Given the description of an element on the screen output the (x, y) to click on. 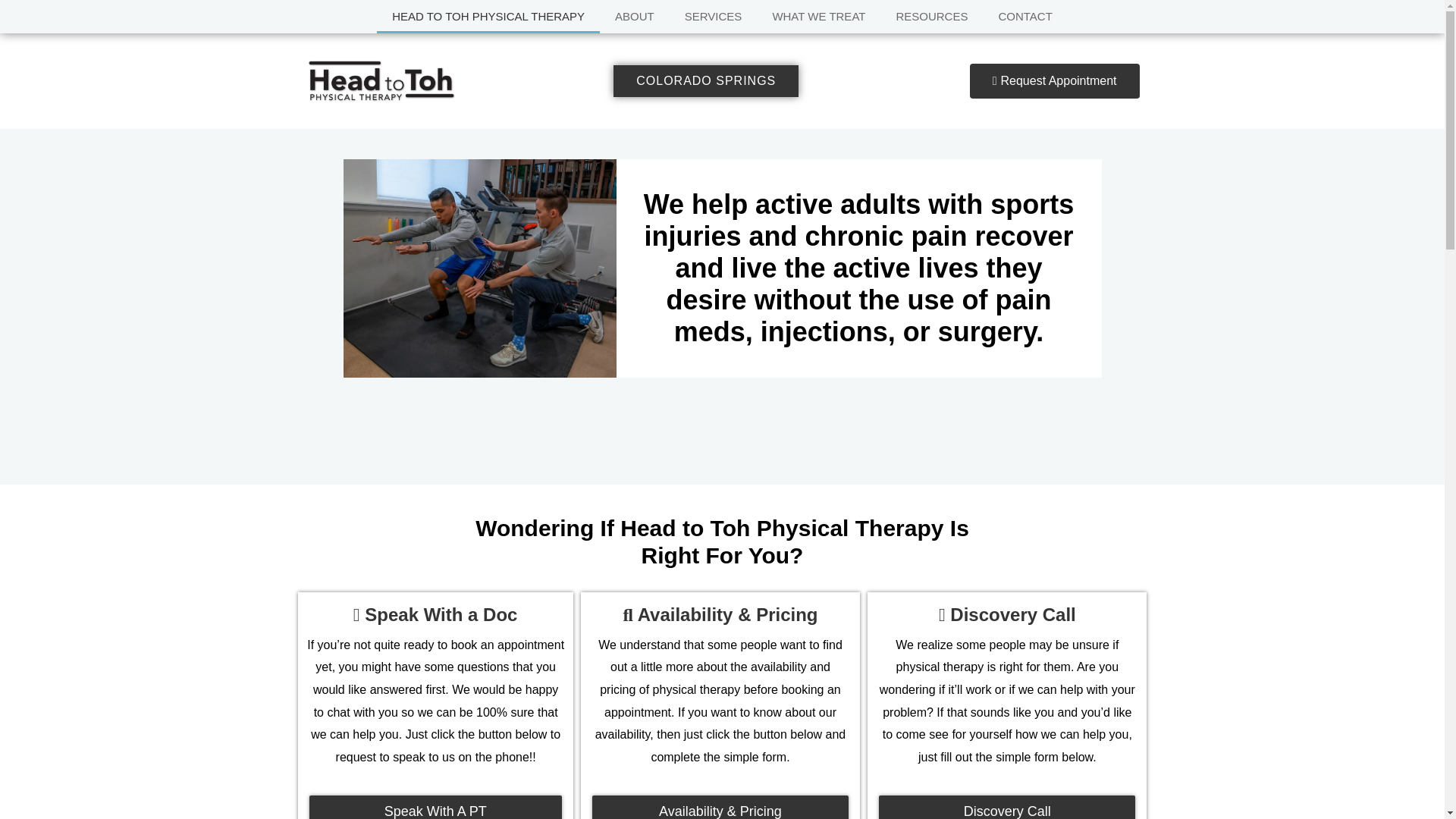
CONTACT (1024, 16)
HEAD TO TOH PHYSICAL THERAPY (488, 16)
ABOUT (634, 16)
RESOURCES (931, 16)
SERVICES (713, 16)
WHAT WE TREAT (818, 16)
